Given the description of an element on the screen output the (x, y) to click on. 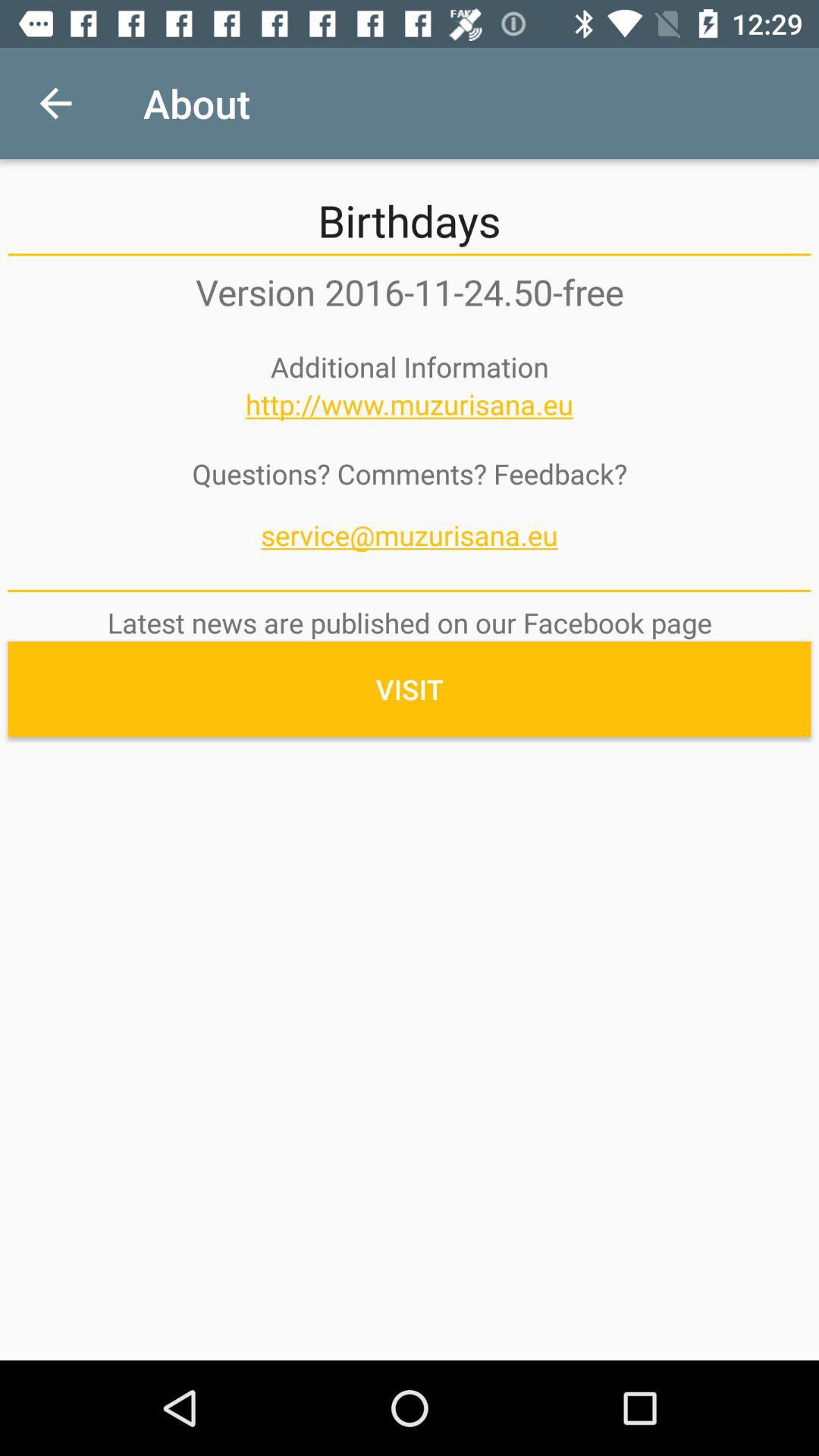
press the icon below the latest news are (409, 689)
